Given the description of an element on the screen output the (x, y) to click on. 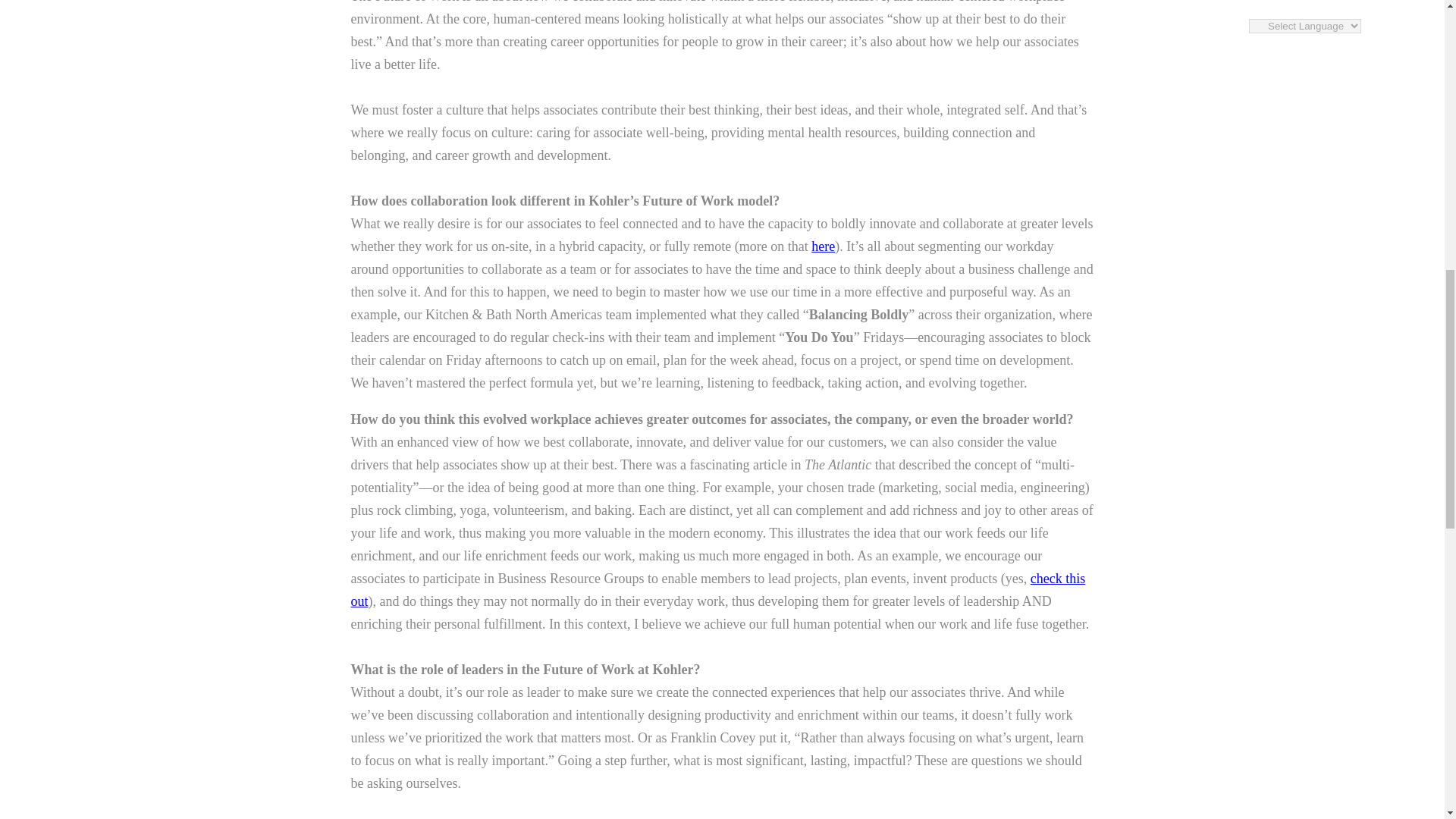
check this out (717, 589)
here (822, 246)
